Given the description of an element on the screen output the (x, y) to click on. 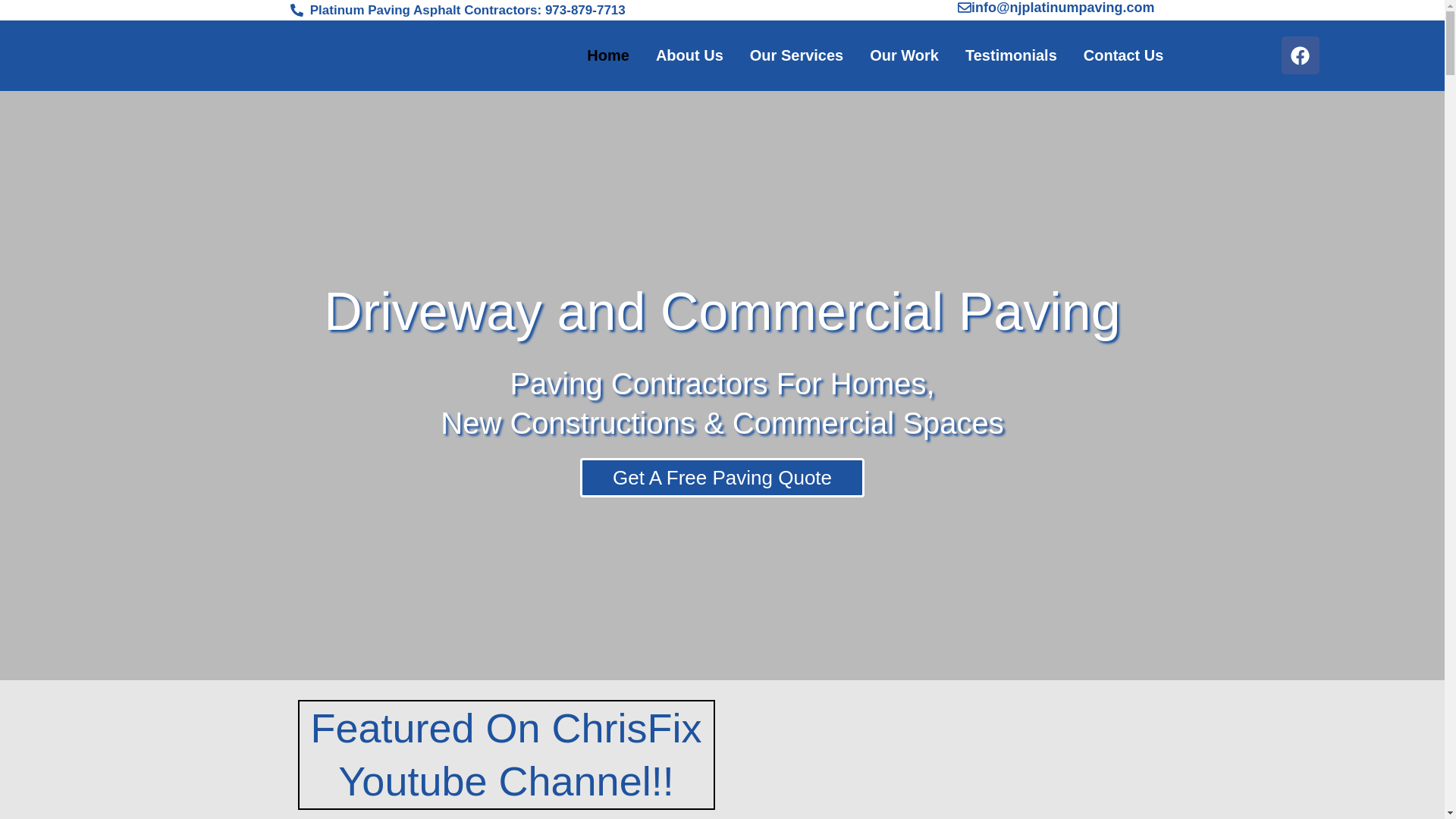
Our Work (904, 54)
Home (607, 54)
Facebook (1300, 55)
Platinum Paving Asphalt Contractors: 973-879-7713 (505, 10)
Contact Us (1123, 54)
Get A Free Paving Quote (721, 477)
Our Services (796, 54)
About Us (689, 54)
Testimonials (1011, 54)
